Given the description of an element on the screen output the (x, y) to click on. 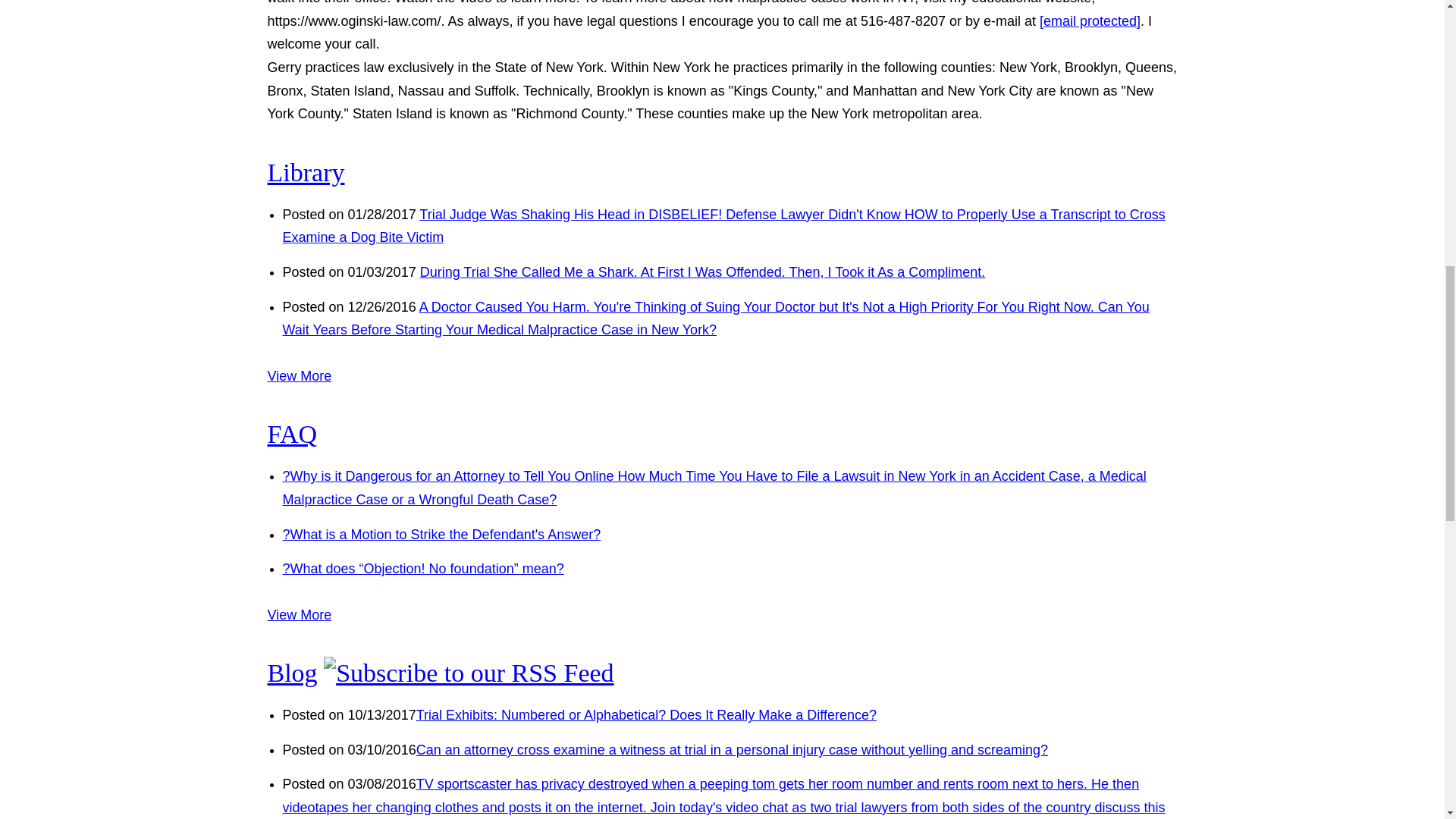
FAQ (291, 433)
View More (298, 376)
Library (304, 172)
Subscribe to our RSS Feed (467, 673)
?What is a Motion to Strike the Defendant's Answer? (440, 533)
